Given the description of an element on the screen output the (x, y) to click on. 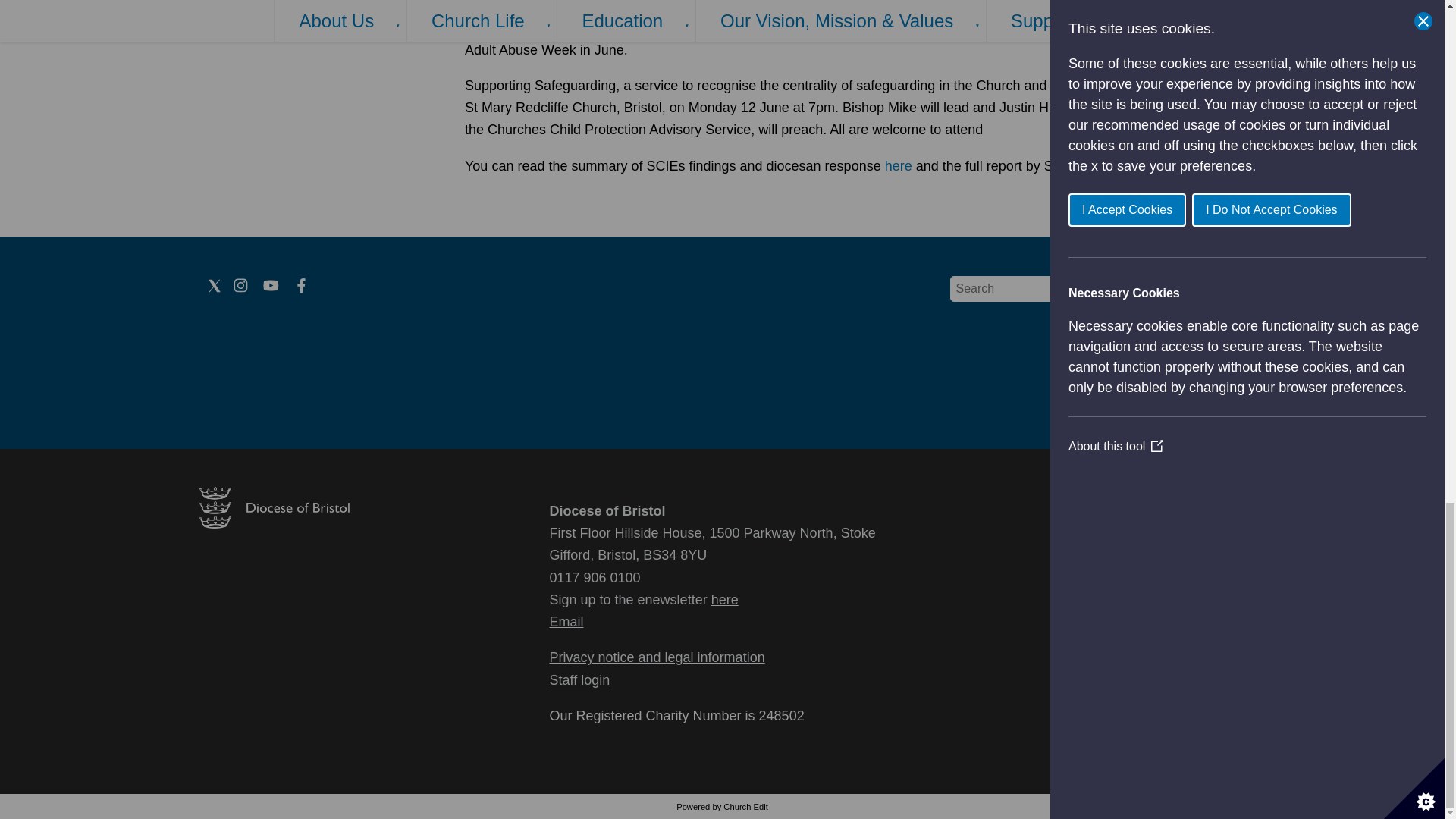
Diocese of Bristol Logo (273, 523)
